Given the description of an element on the screen output the (x, y) to click on. 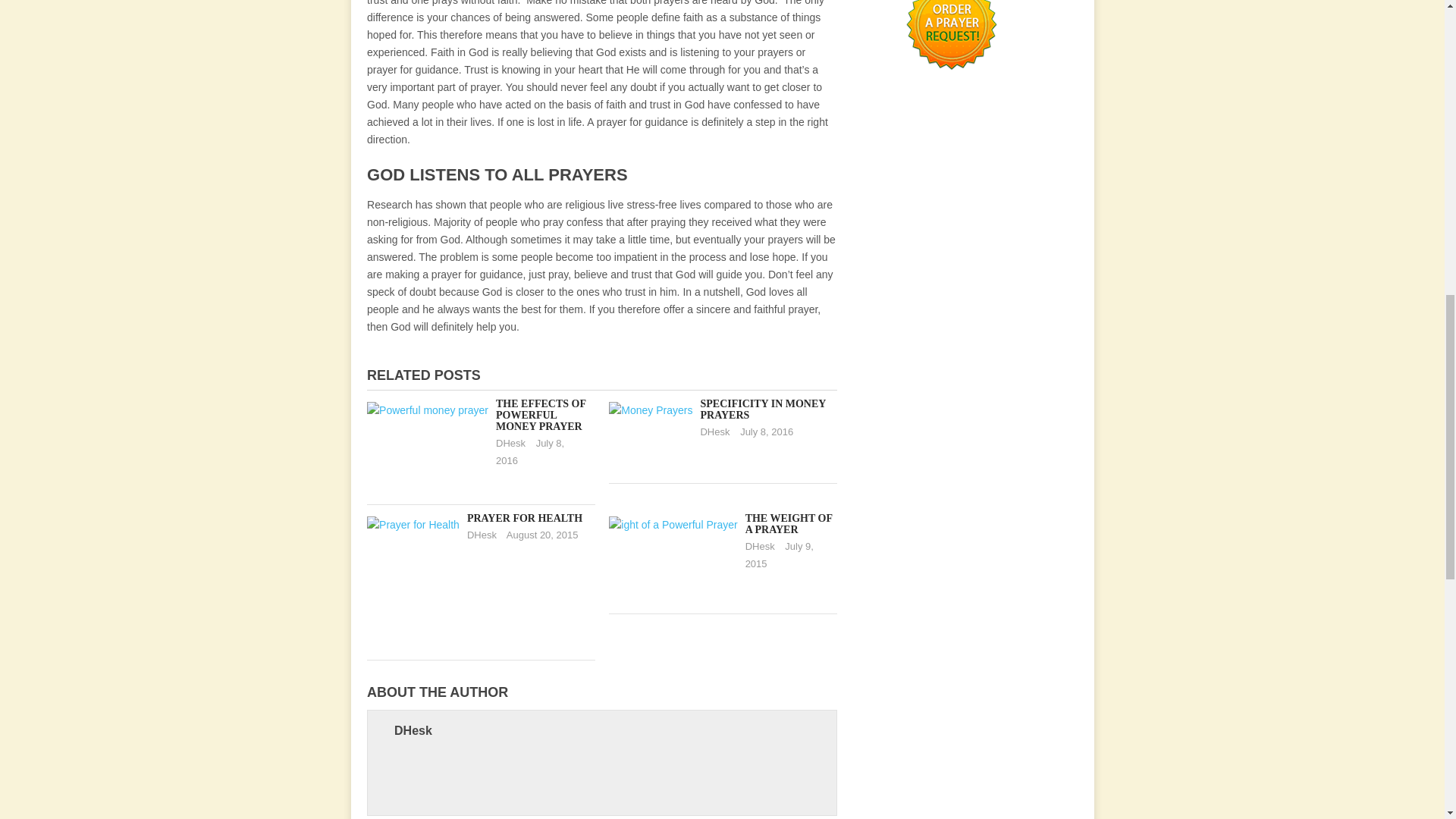
DHesk (481, 534)
Specificity in Money Prayers (762, 409)
THE EFFECTS OF POWERFUL MONEY PRAYER (541, 415)
DHesk (714, 431)
PRAYER FOR HEALTH (524, 518)
The Effects of Powerful Money Prayer (541, 415)
THE WEIGHT OF A PRAYER (788, 523)
DHesk (759, 546)
Posts by DHesk (481, 534)
Prayer for Health (524, 518)
